Given the description of an element on the screen output the (x, y) to click on. 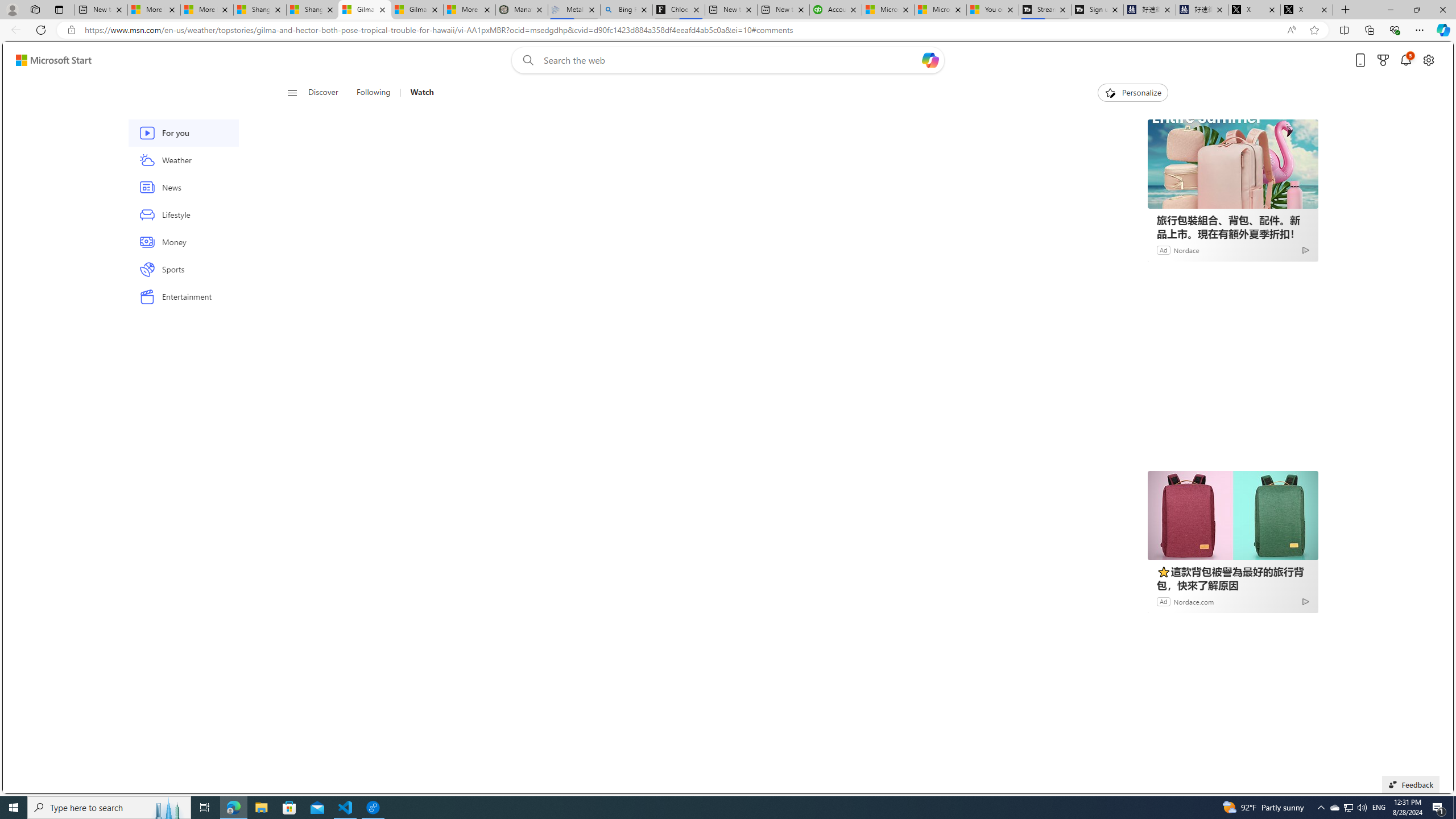
Skip to footer (46, 59)
Streaming Coverage | T3 (1044, 9)
Microsoft rewards (1382, 60)
Manatee Mortality Statistics | FWC (521, 9)
Class: button-glyph (292, 92)
Enter your search term (730, 59)
